Given the description of an element on the screen output the (x, y) to click on. 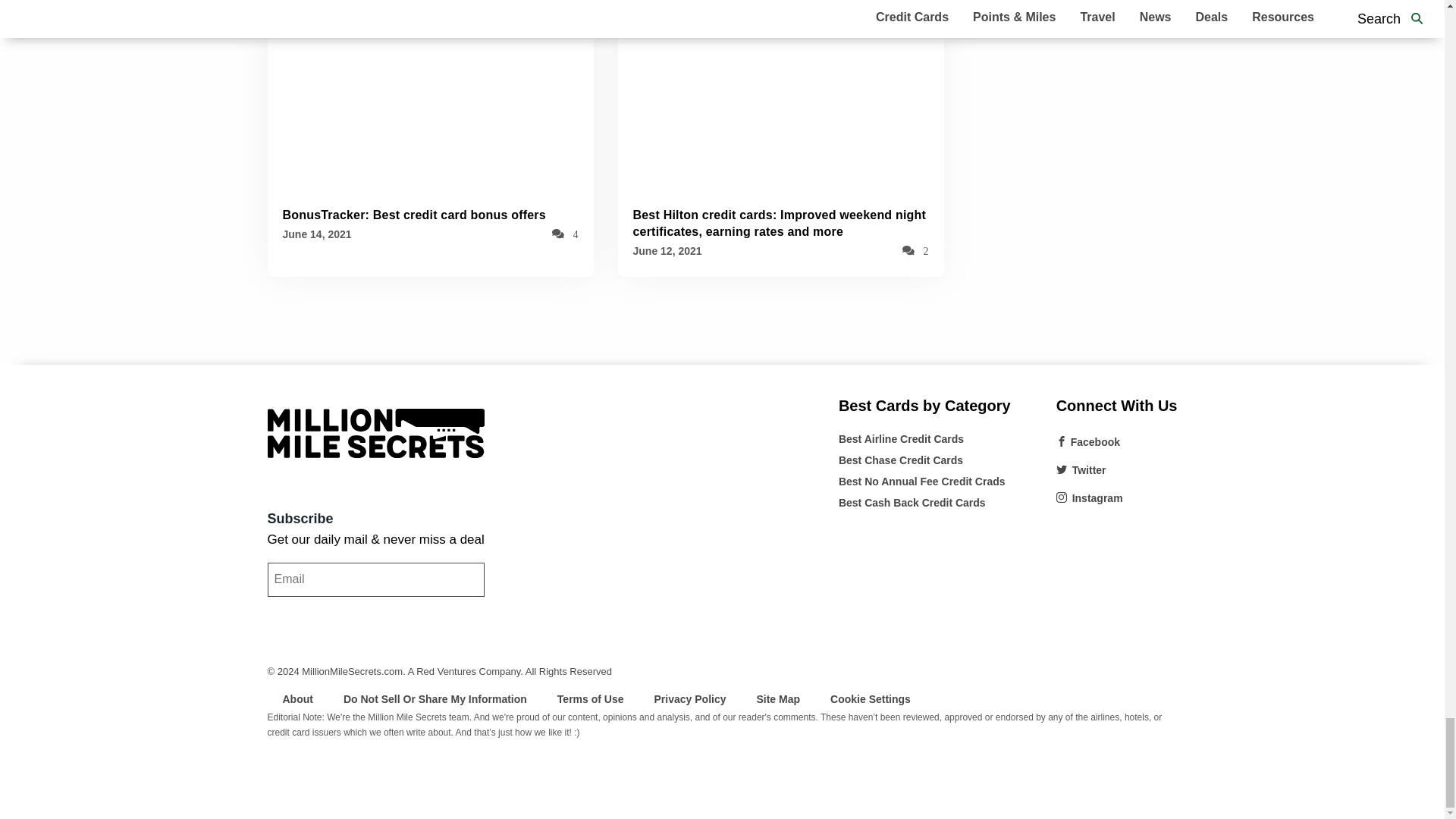
Go (285, 613)
mms-logo-2 (374, 432)
